Given the description of an element on the screen output the (x, y) to click on. 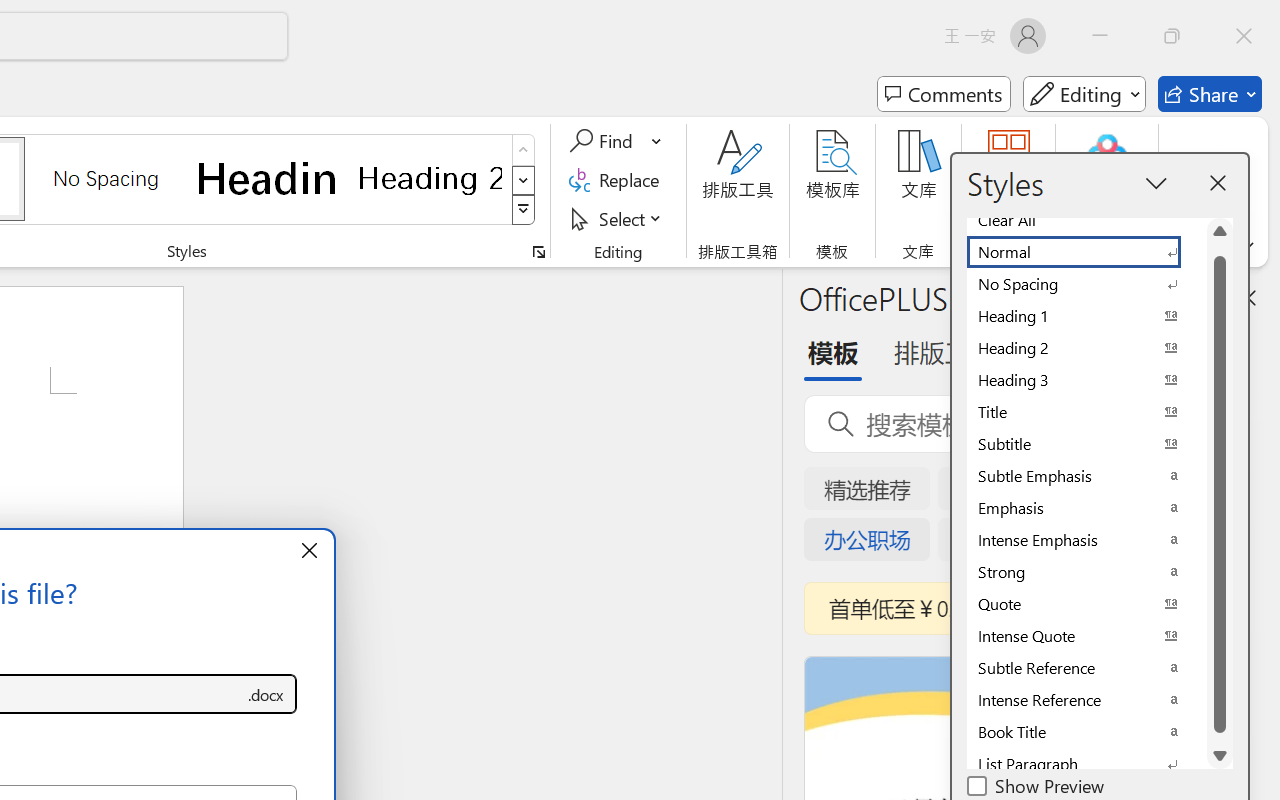
Book Title (1086, 732)
Title (1086, 412)
Clear All (1086, 220)
Find (604, 141)
Find (616, 141)
No Spacing (1086, 284)
Intense Quote (1086, 636)
List Paragraph (1086, 764)
Mode (1083, 94)
Close (1244, 36)
Subtle Reference (1086, 668)
Row Down (523, 180)
Select (618, 218)
